Given the description of an element on the screen output the (x, y) to click on. 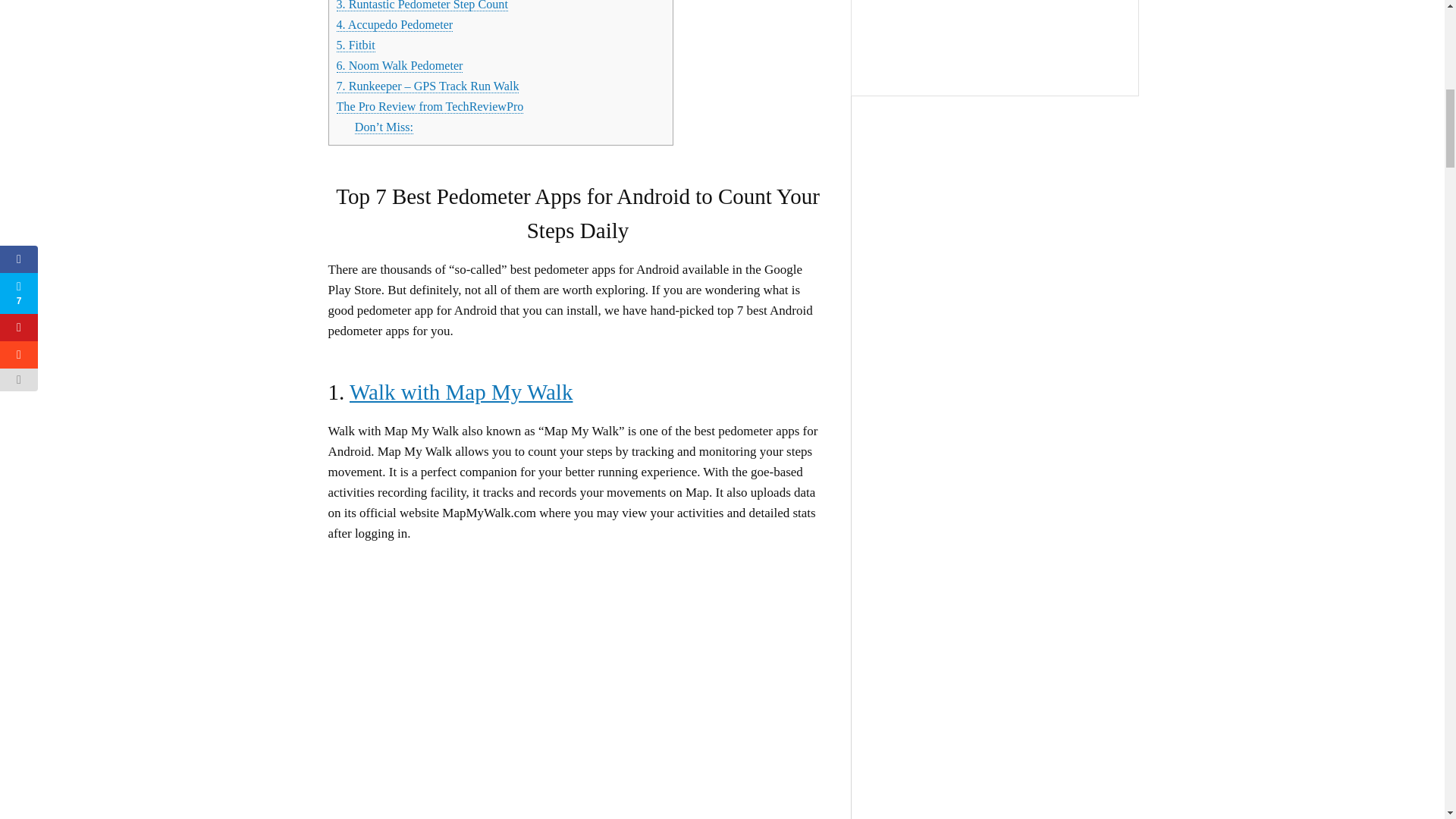
The Pro Review from TechReviewPro (430, 106)
5. Fitbit (355, 45)
6. Noom Walk Pedometer (399, 65)
4. Accupedo Pedometer (394, 24)
3. Runtastic Pedometer Step Count (422, 5)
Walk with Map My Walk (460, 392)
